Given the description of an element on the screen output the (x, y) to click on. 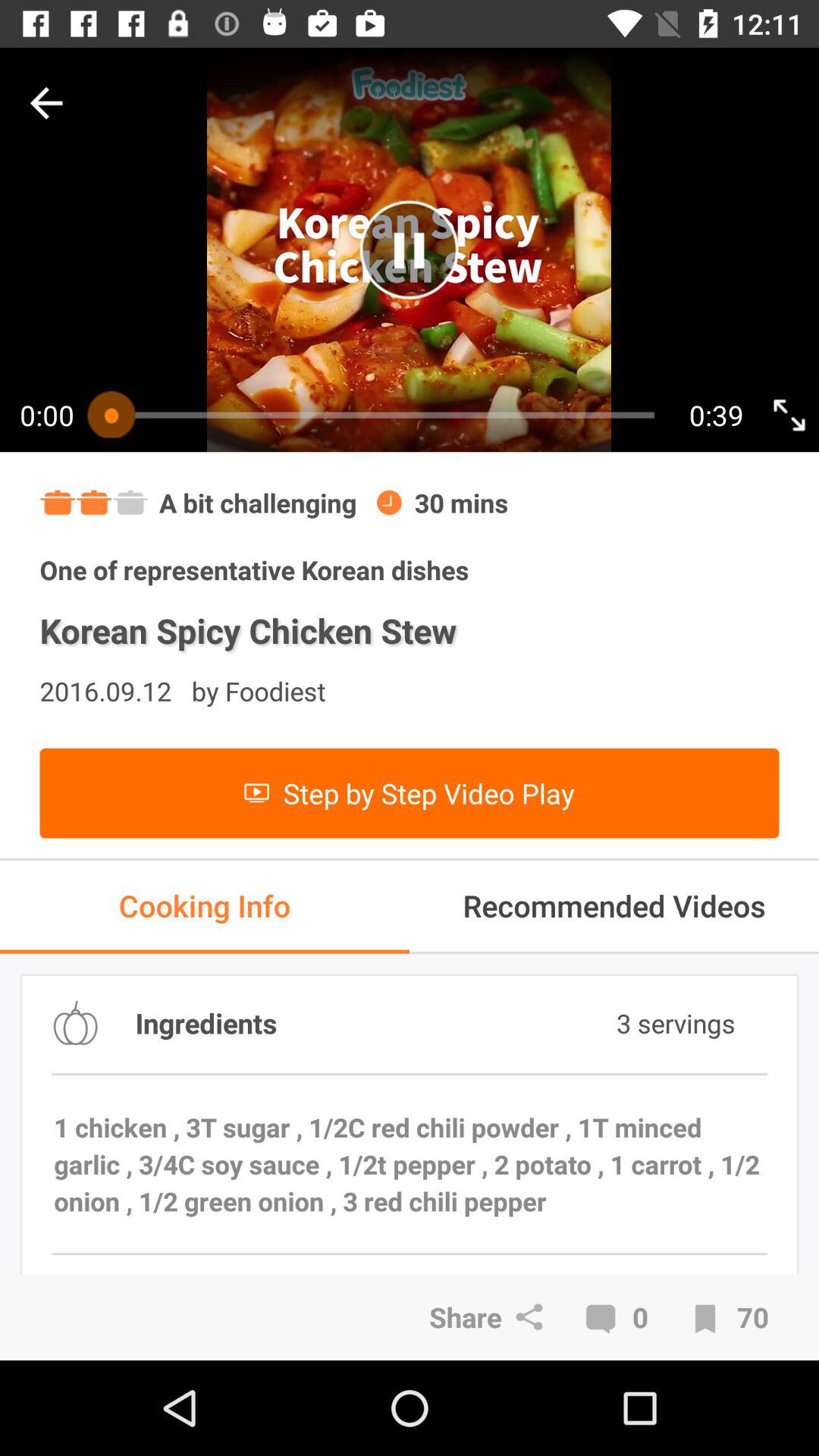
start/pause (408, 249)
